Given the description of an element on the screen output the (x, y) to click on. 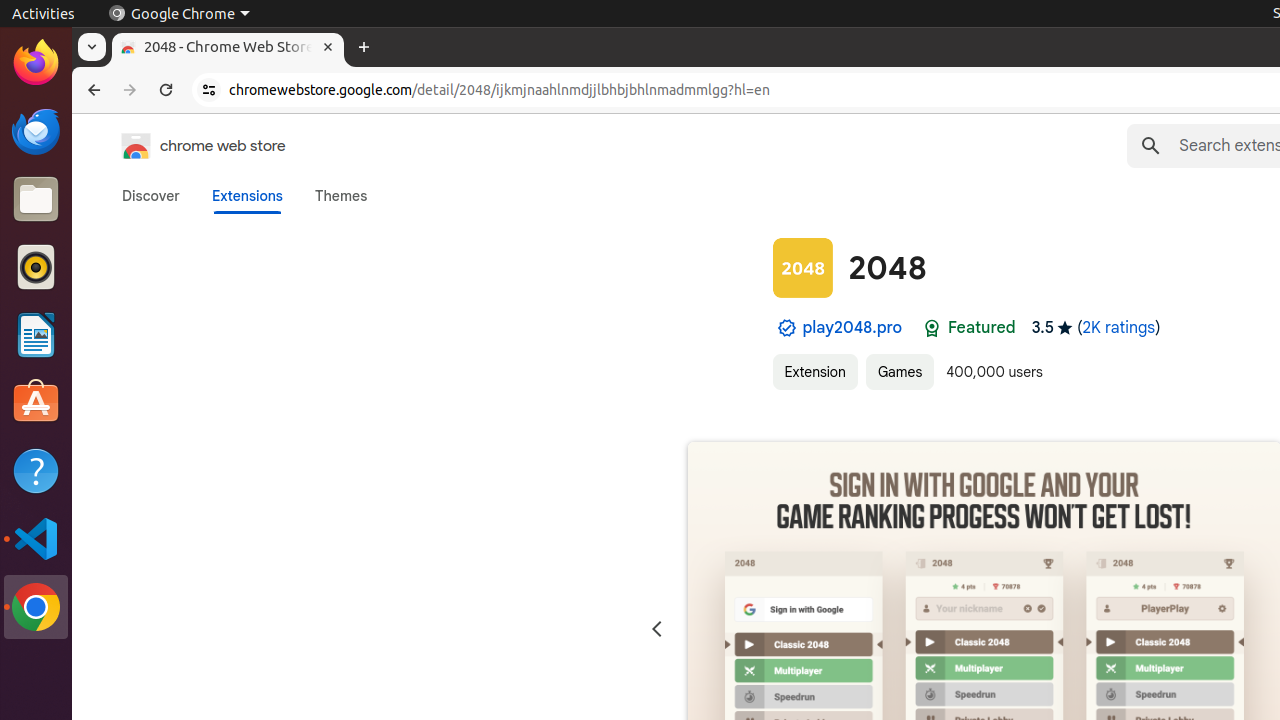
Google Chrome Element type: push-button (36, 607)
